Given the description of an element on the screen output the (x, y) to click on. 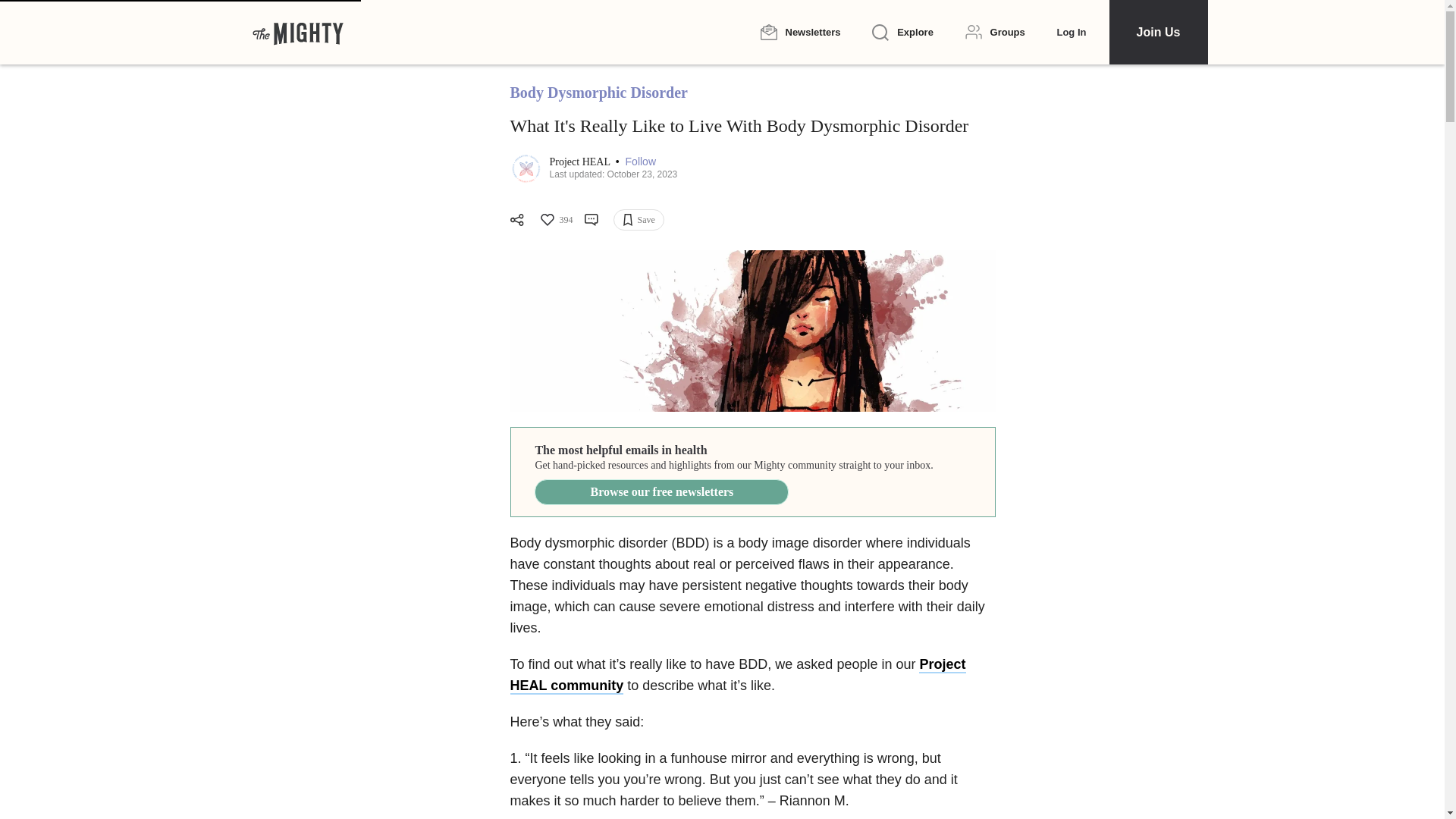
Join Us (1157, 32)
Browse our free newsletters (661, 492)
Project HEAL (579, 161)
Project HEAL community (737, 675)
Save (637, 219)
What Body Dysmorphic Disorder Feels Like (751, 330)
Explore (902, 32)
394 (555, 219)
Newsletters (800, 31)
Groups (995, 32)
